Given the description of an element on the screen output the (x, y) to click on. 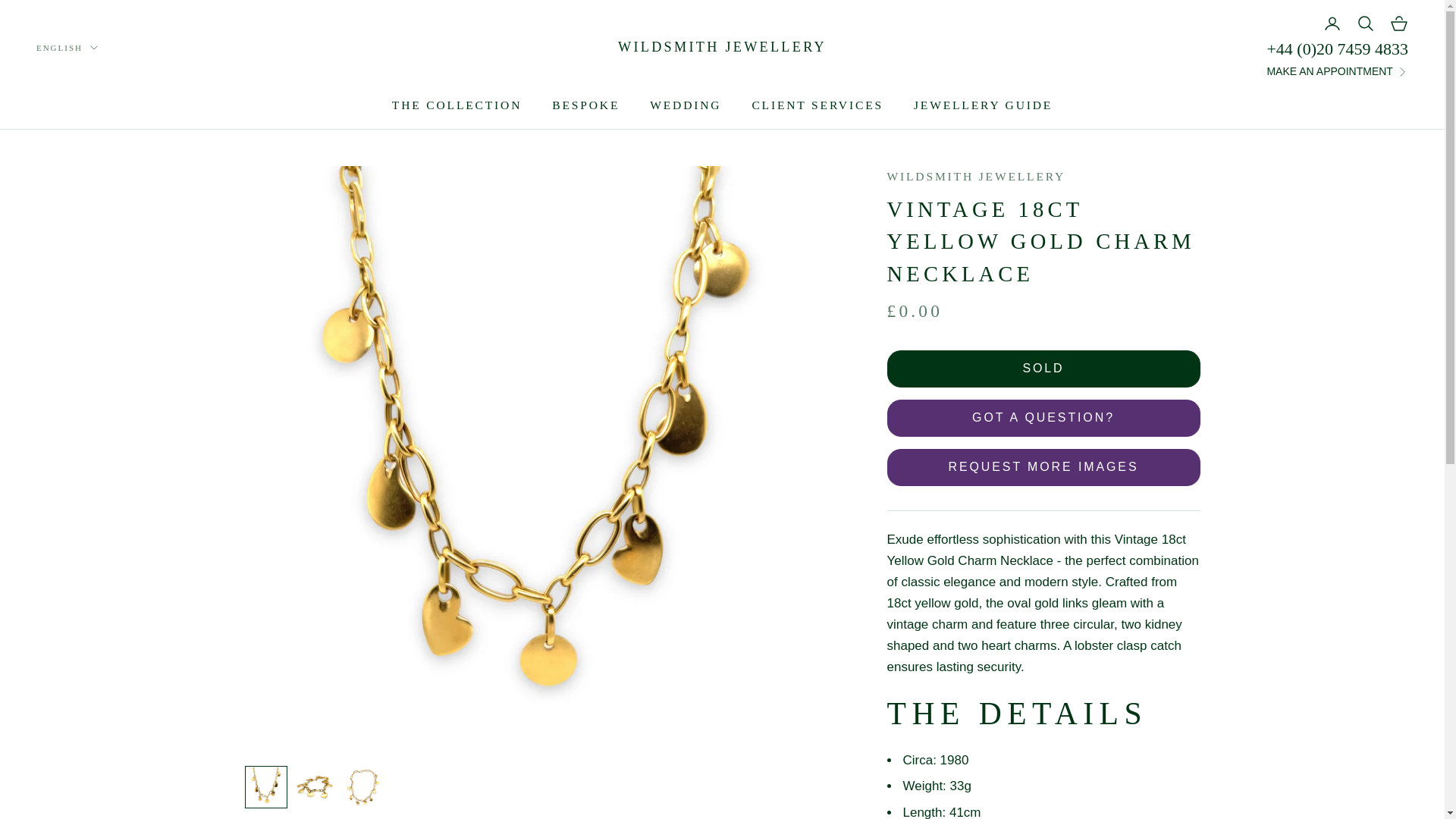
JEWELLERY GUIDE (983, 105)
MAKE AN APPOINTMENT (1336, 71)
Open search (1365, 23)
WILDSMITH JEWELLERY (722, 47)
Open account page (1331, 23)
THE COLLECTION (456, 105)
ENGLISH (66, 47)
Open cart (1398, 23)
WEDDING (684, 105)
